Given the description of an element on the screen output the (x, y) to click on. 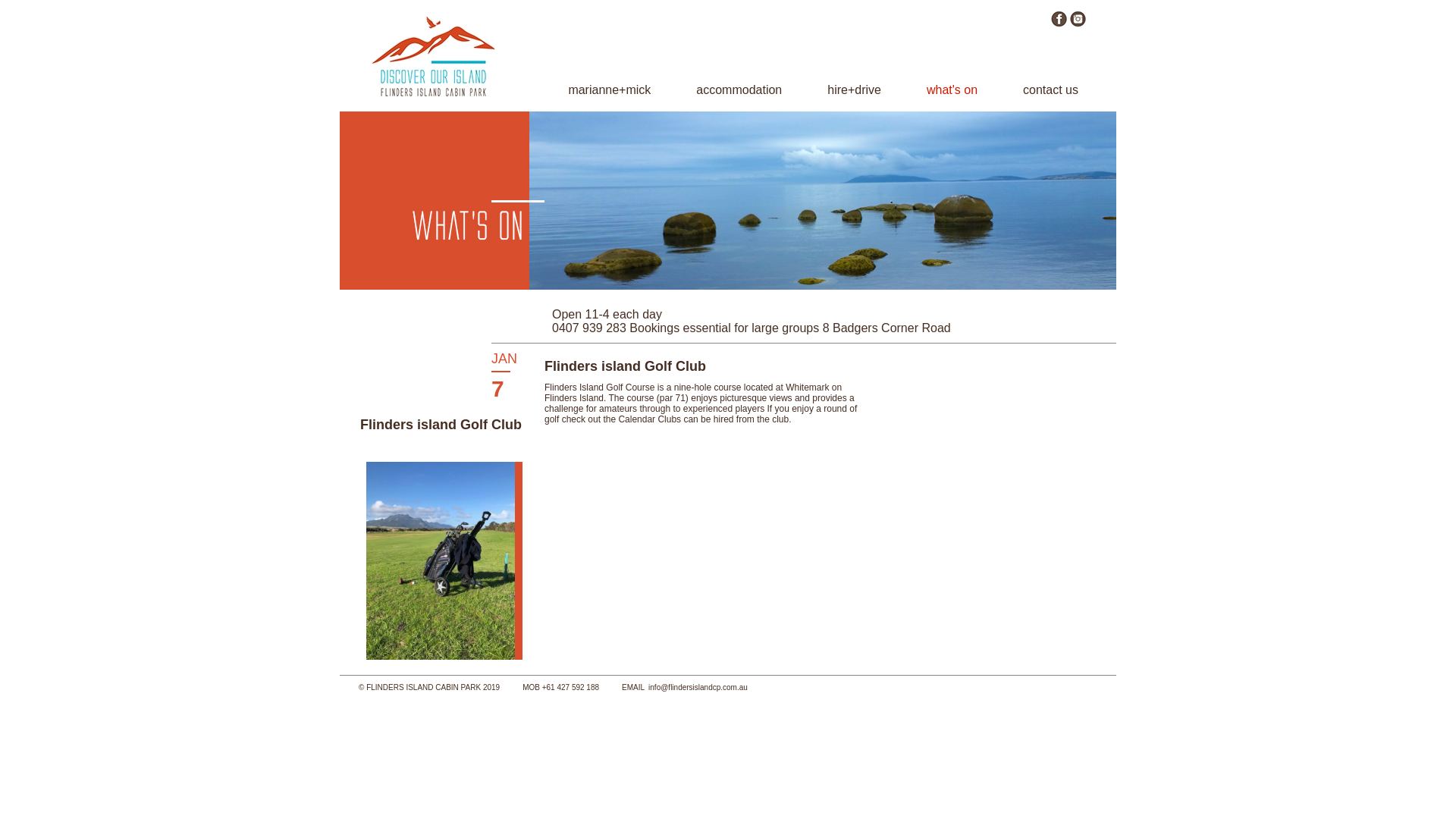
Connect with us Element type: hover (1077, 22)
what's on Element type: text (951, 89)
Connect with us Element type: hover (1058, 22)
contact us Element type: text (1050, 89)
marianne+mick Element type: text (608, 89)
hire+drive Element type: text (854, 89)
Flinders Island Cabin Park Element type: hover (434, 93)
accommodation Element type: text (738, 89)
info@flindersislandcp.com.au Element type: text (697, 687)
